Given the description of an element on the screen output the (x, y) to click on. 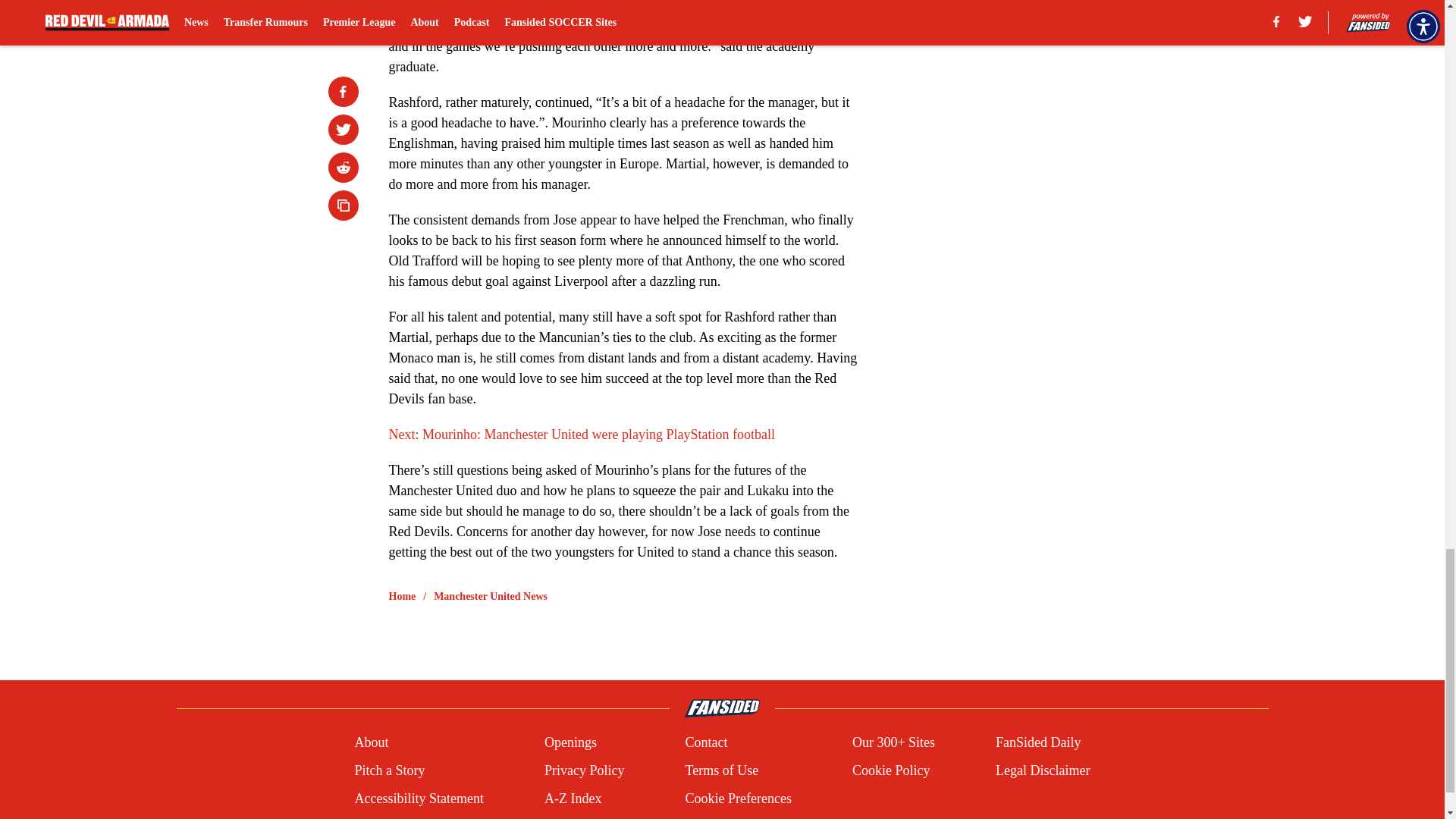
Privacy Policy (584, 770)
Pitch a Story (389, 770)
Legal Disclaimer (1042, 770)
Cookie Policy (890, 770)
Home (401, 596)
FanSided Daily (1038, 742)
Terms of Use (721, 770)
Contact (705, 742)
About (370, 742)
